Given the description of an element on the screen output the (x, y) to click on. 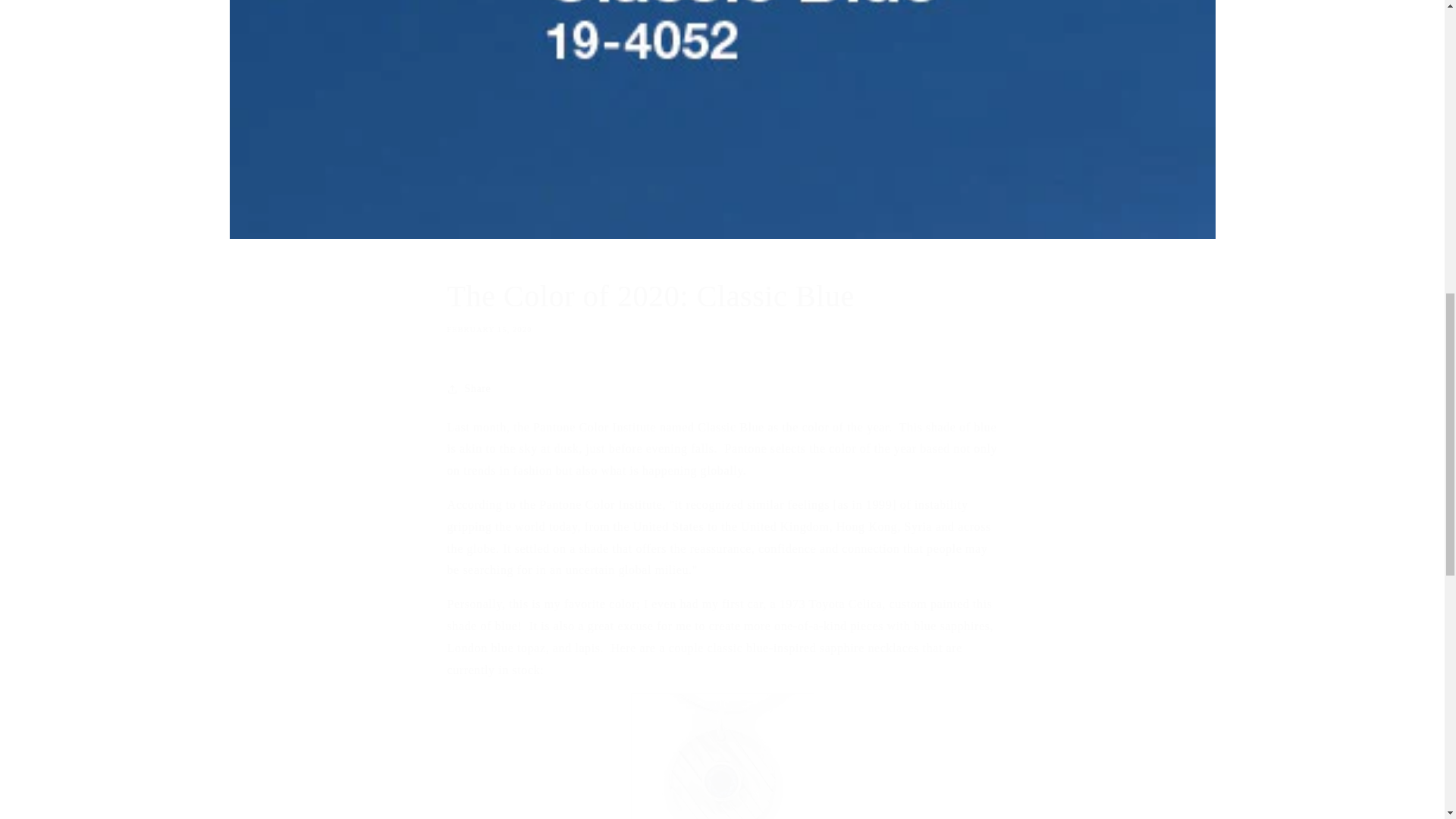
Sapphire necklace (721, 305)
Share (721, 755)
